Given the description of an element on the screen output the (x, y) to click on. 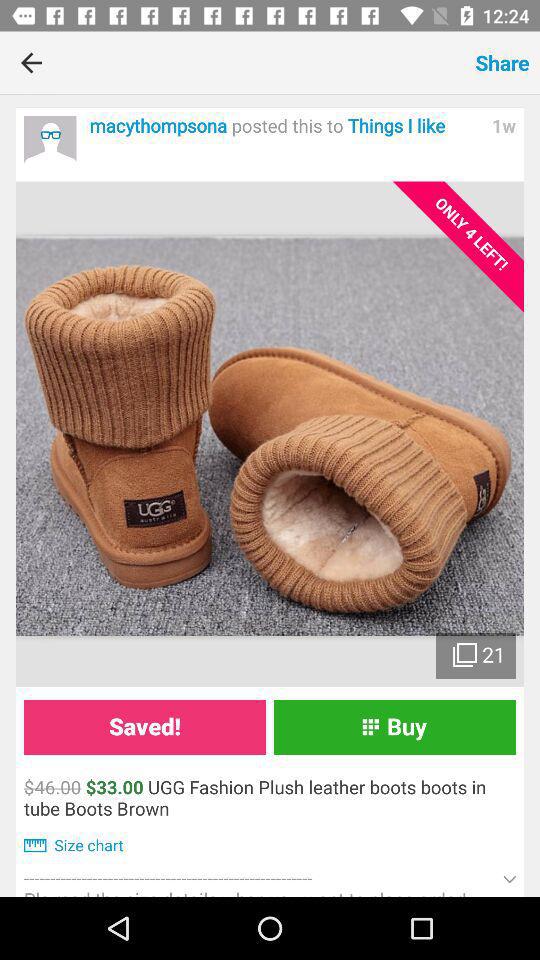
search more (50, 141)
